Given the description of an element on the screen output the (x, y) to click on. 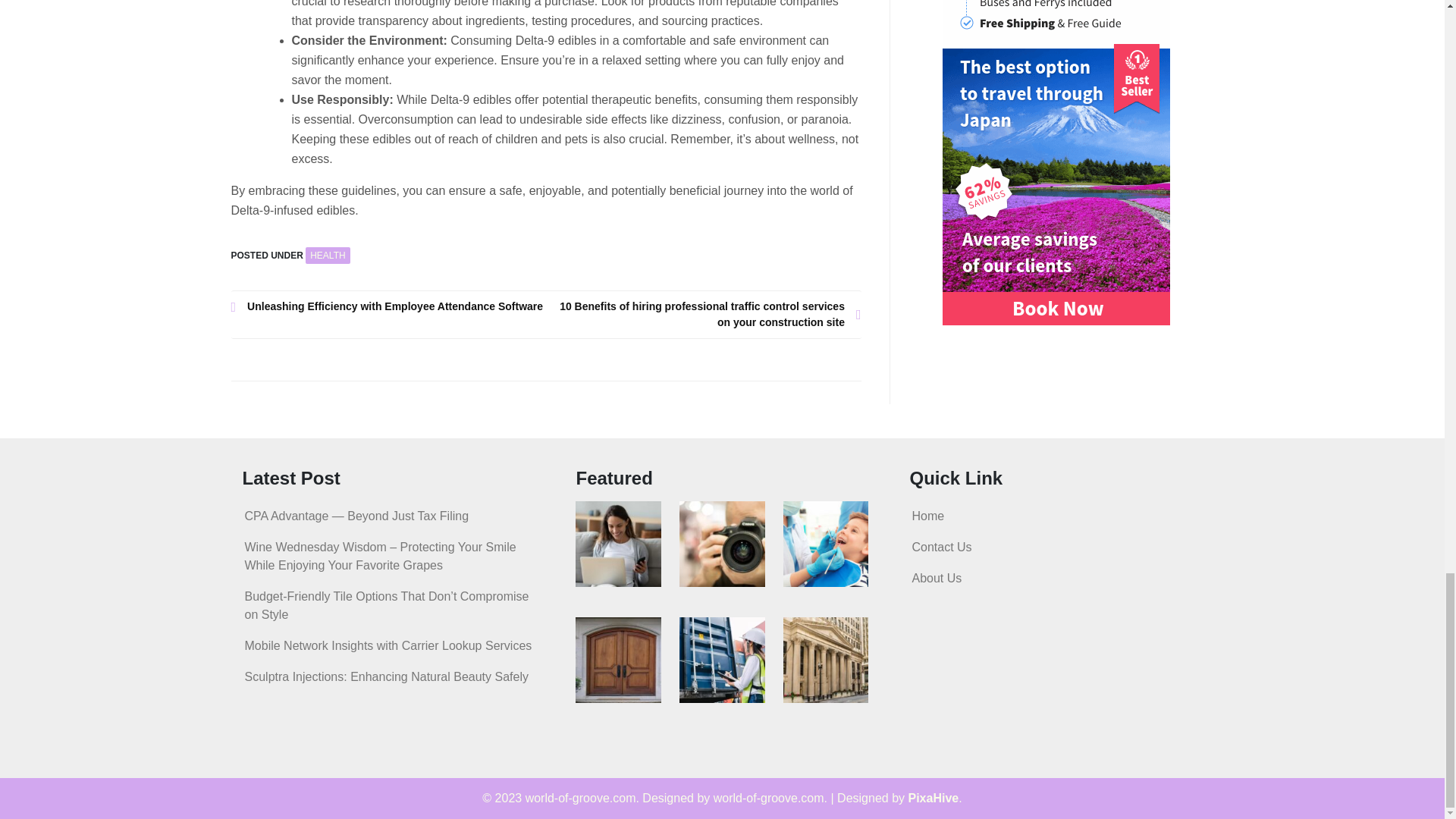
Unleashing Efficiency with Employee Attendance Software (388, 306)
HEALTH (327, 255)
